Given the description of an element on the screen output the (x, y) to click on. 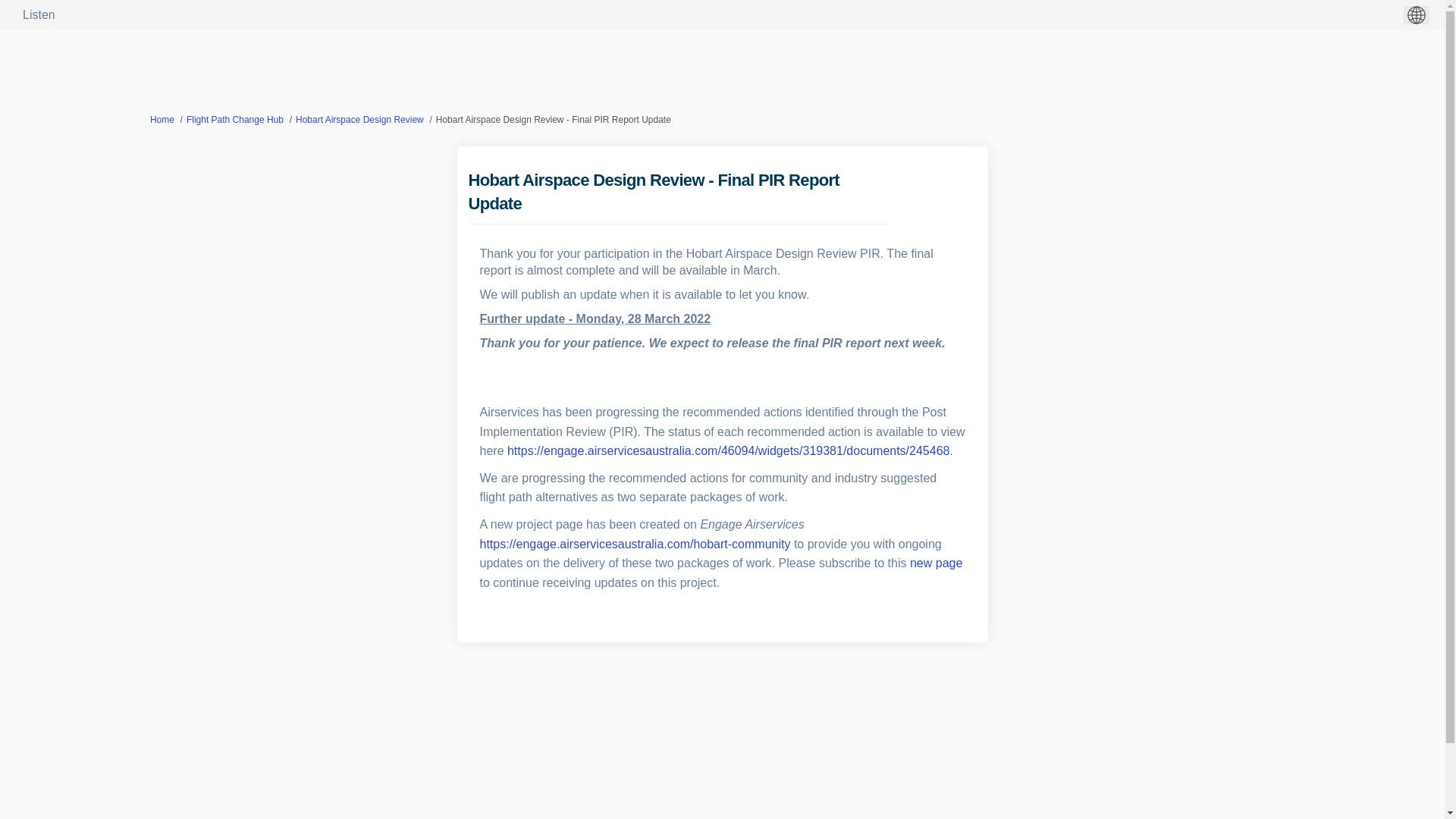
Home (161, 119)
Listen to this page using ReadSpeaker (39, 14)
new page (936, 562)
Hobart Airspace Design Review (359, 119)
Flight Path Change Hub (234, 119)
Listen (39, 14)
